Given the description of an element on the screen output the (x, y) to click on. 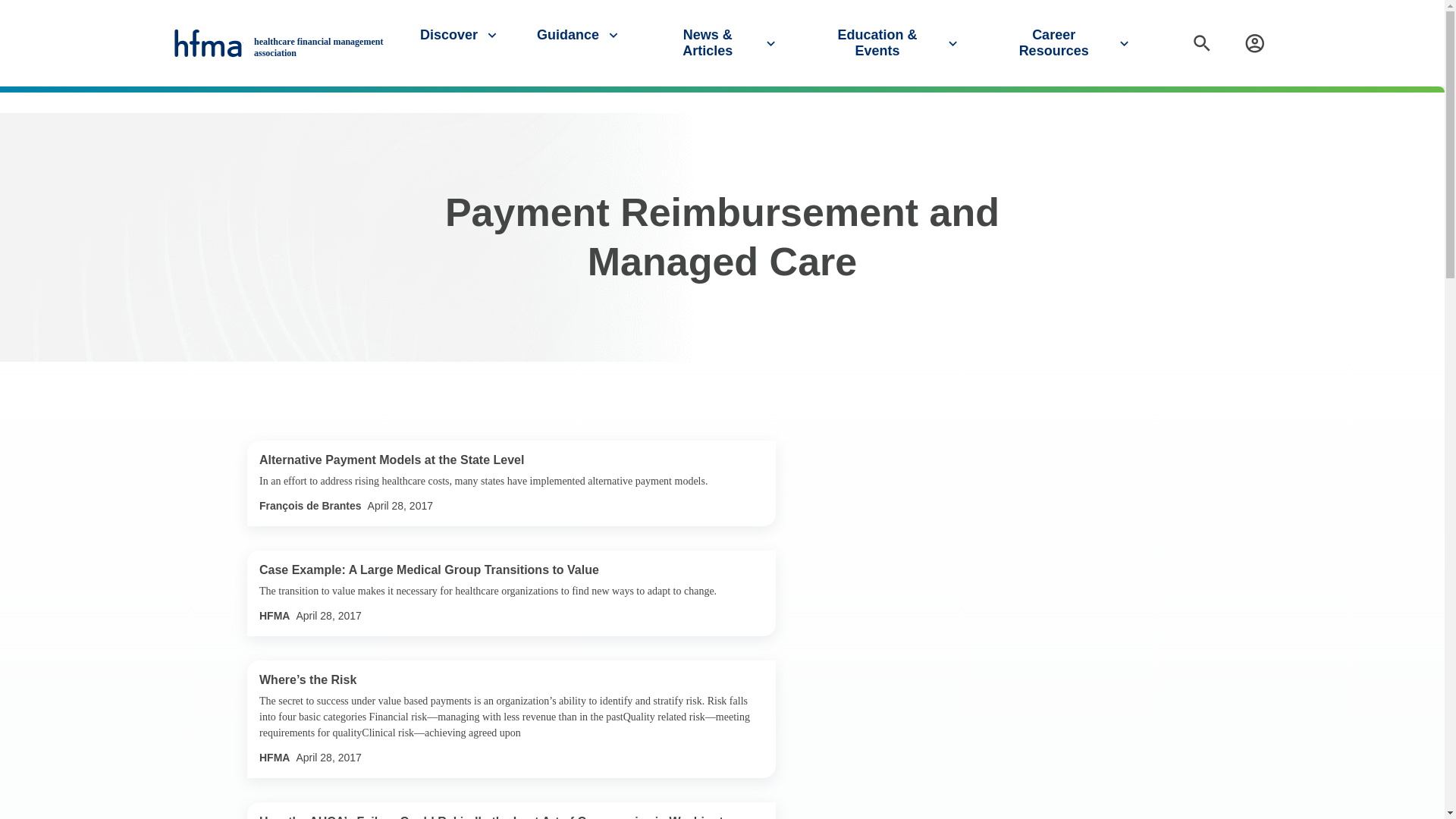
3rd party ad content (961, 732)
Career Resources (1064, 42)
3rd party ad content (961, 534)
Guidance (579, 35)
Submit (1427, 101)
Discover (460, 35)
